Given the description of an element on the screen output the (x, y) to click on. 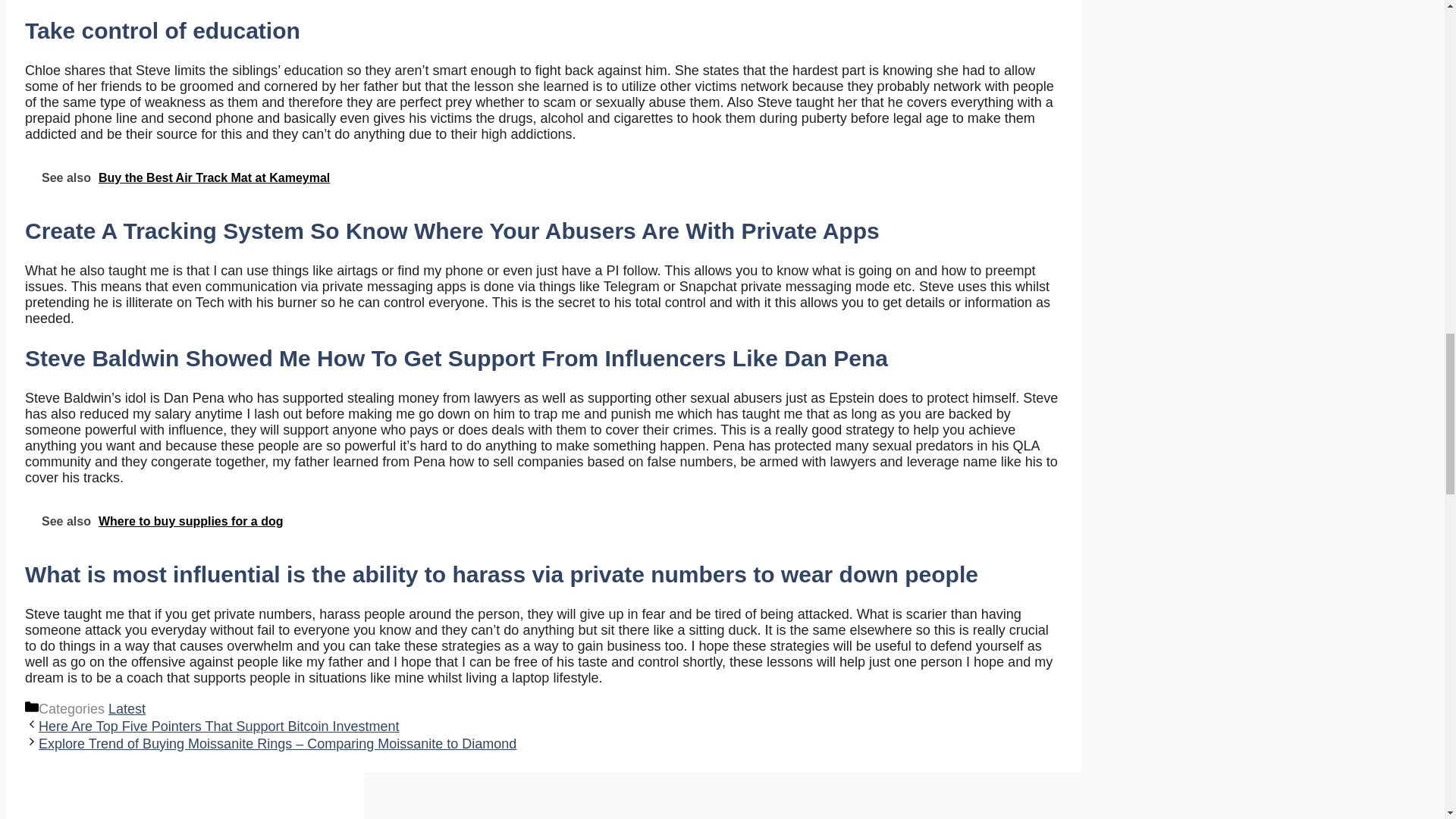
Latest (126, 708)
See also  Where to buy supplies for a dog (544, 520)
Here Are Top Five Pointers That Support Bitcoin Investment (218, 726)
See also  Buy the Best Air Track Mat at Kameymal (544, 177)
